Given the description of an element on the screen output the (x, y) to click on. 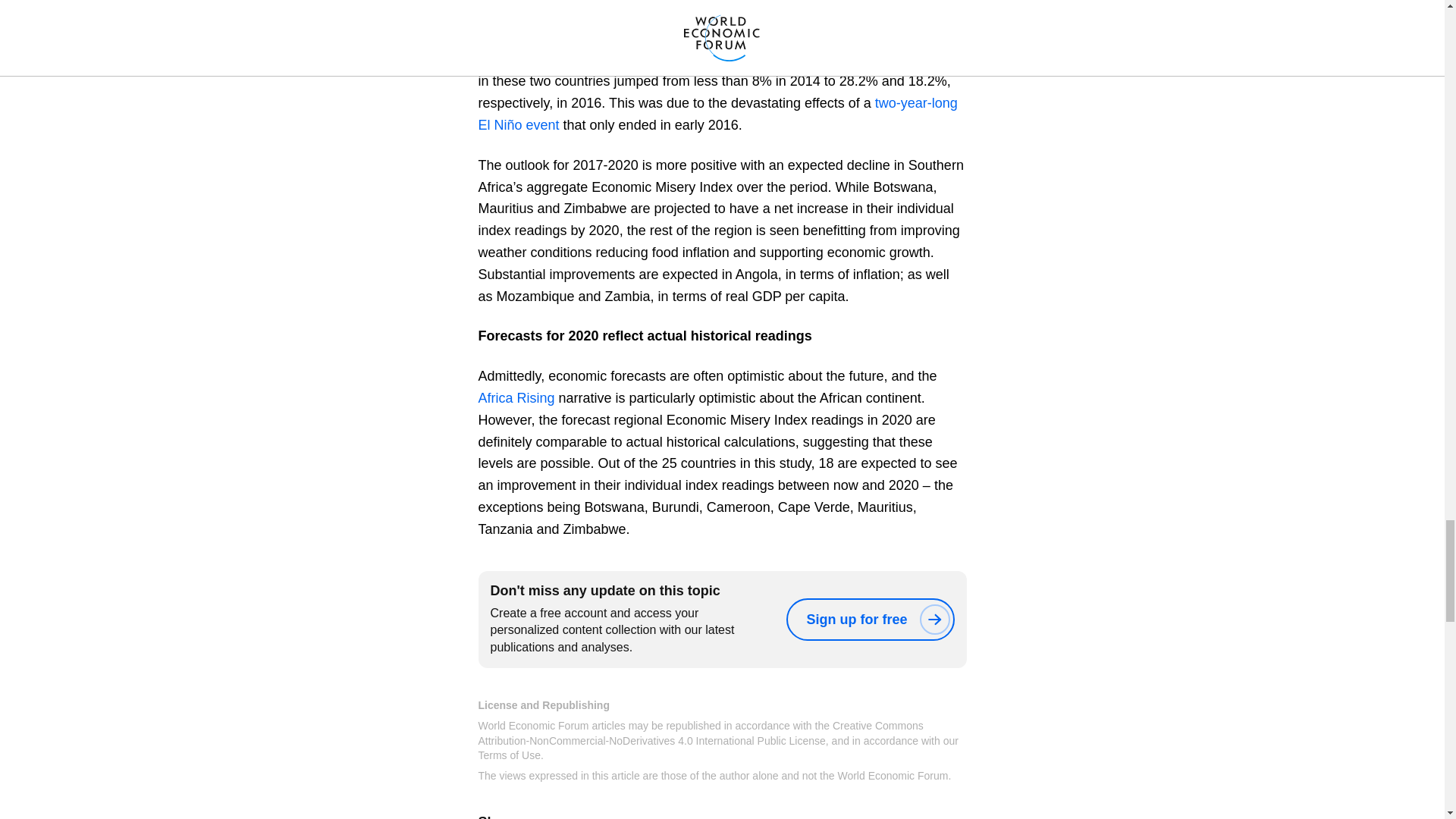
Sign up for free (869, 619)
Africa Rising (515, 397)
deteriorating overall macroeconomic environment (626, 37)
